Given the description of an element on the screen output the (x, y) to click on. 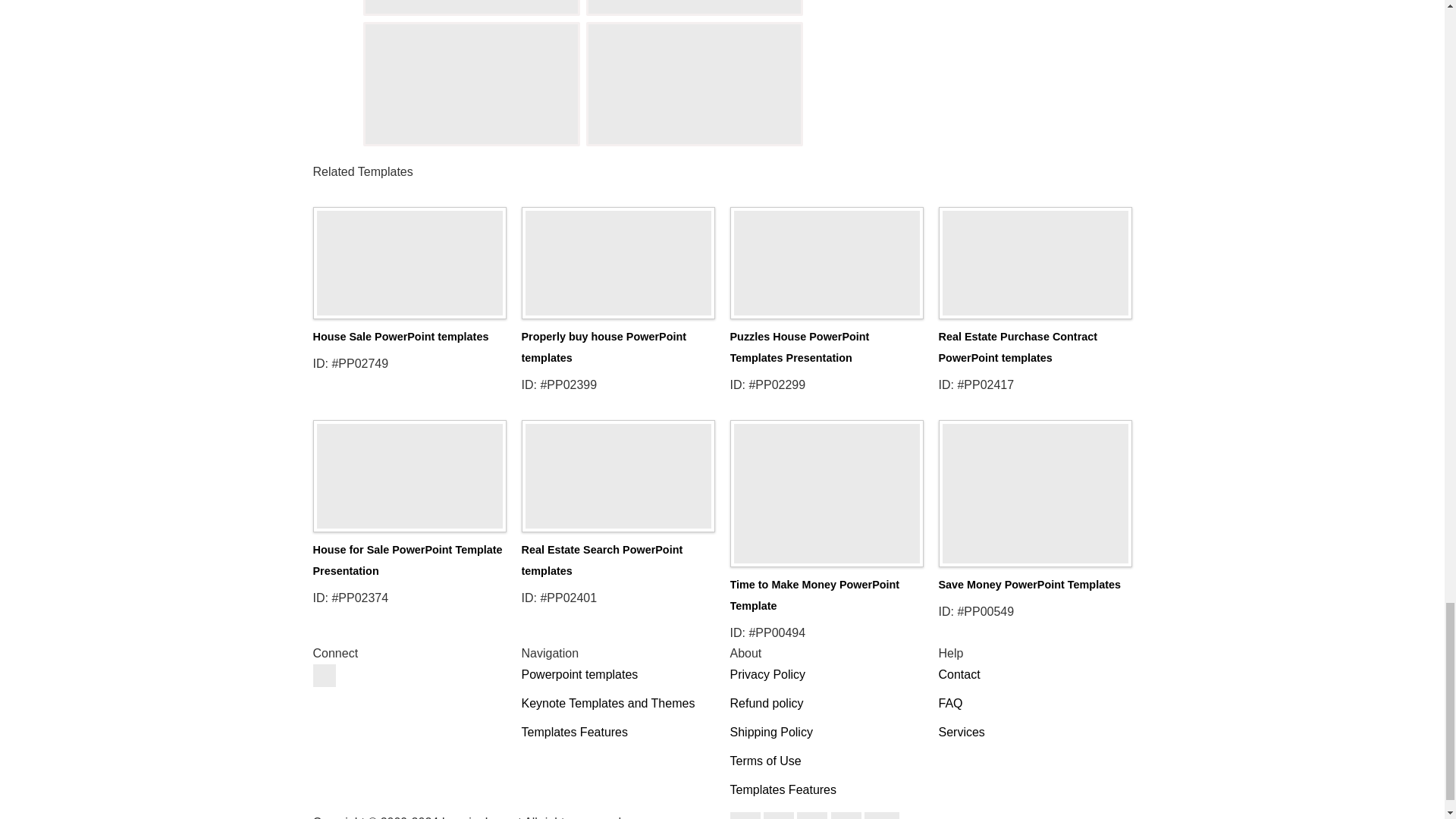
House Sale PowerPoint templates (409, 257)
